Given the description of an element on the screen output the (x, y) to click on. 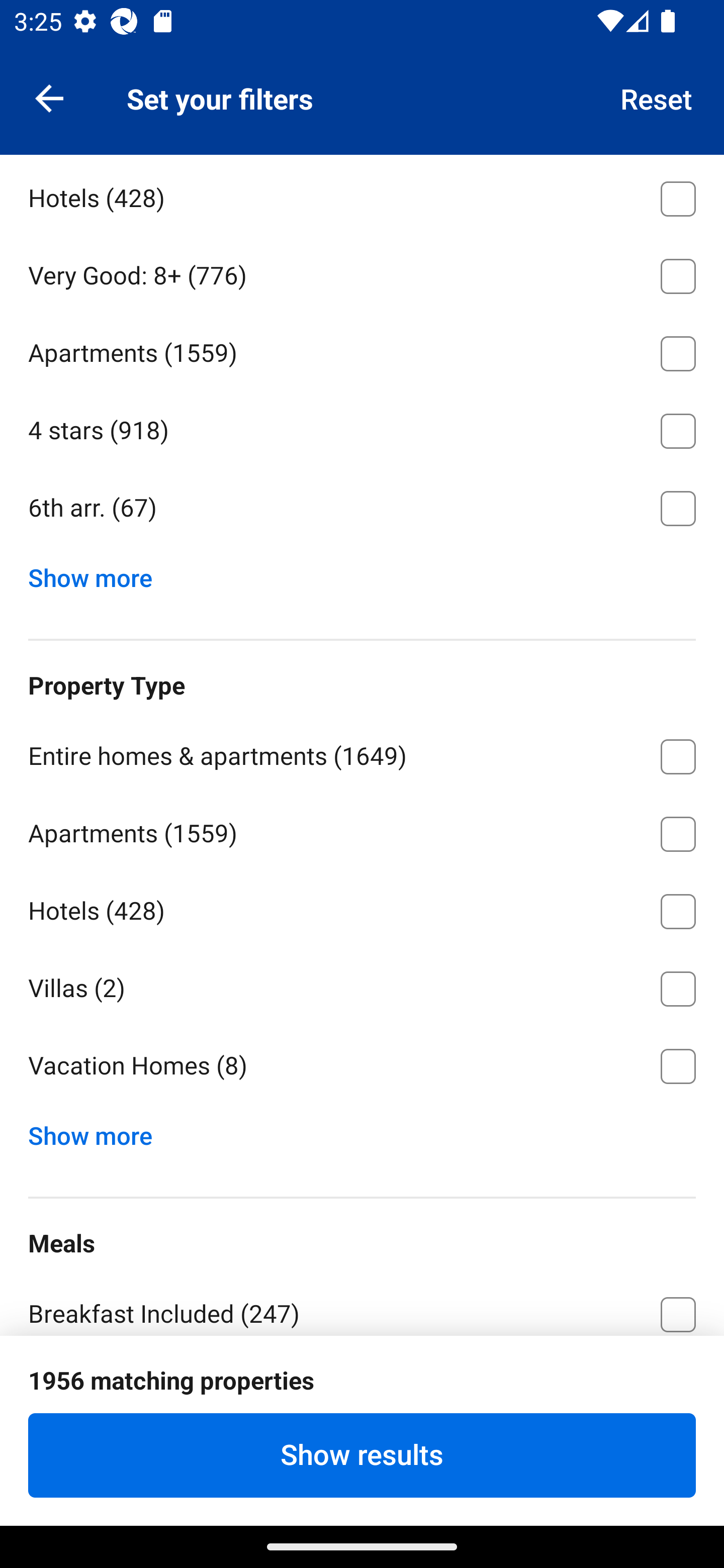
Navigate up (49, 97)
Reset (656, 97)
Hotels ⁦(428) (361, 194)
Very Good: 8+ ⁦(776) (361, 272)
Apartments ⁦(1559) (361, 350)
4 stars ⁦(918) (361, 426)
6th arr. ⁦(67) (361, 507)
Show more (97, 572)
Entire homes & apartments ⁦(1649) (361, 753)
Apartments ⁦(1559) (361, 829)
Hotels ⁦(428) (361, 907)
Villas ⁦(2) (361, 985)
Vacation Homes ⁦(8) (361, 1065)
Show more (97, 1131)
Breakfast Included ⁦(247) (361, 1304)
All-inclusive ⁦(1) (361, 1388)
Show results (361, 1454)
